Given the description of an element on the screen output the (x, y) to click on. 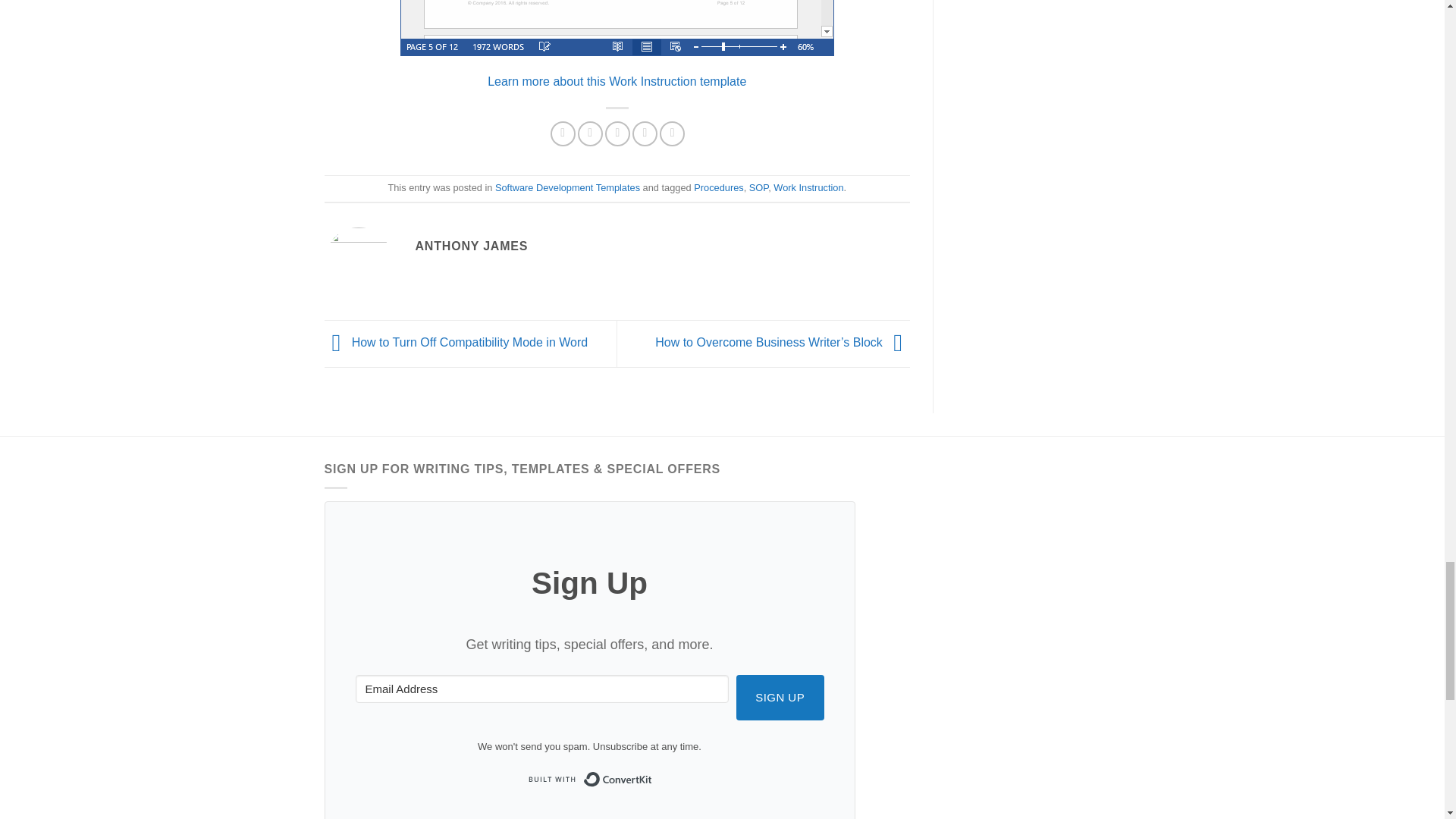
Pin on Pinterest (644, 133)
Share on Twitter (590, 133)
Email to a Friend (617, 133)
Share on LinkedIn (671, 133)
Share on Facebook (562, 133)
